Given the description of an element on the screen output the (x, y) to click on. 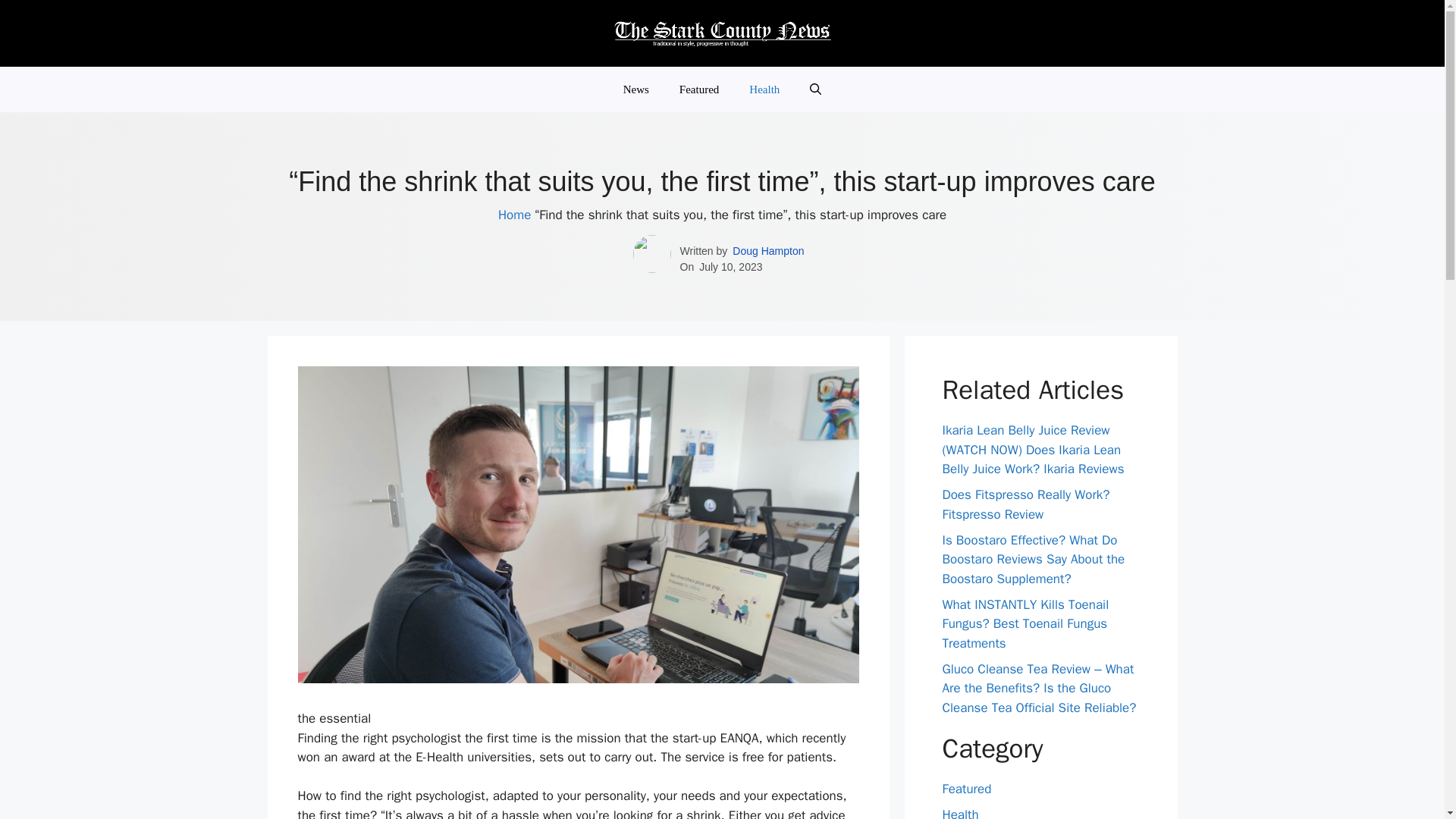
Does Fitspresso Really Work? Fitspresso Review (1025, 504)
Doug Hampton (767, 251)
Health (763, 89)
News (635, 89)
Featured (698, 89)
Featured (966, 788)
Home (514, 214)
Health (960, 812)
